Given the description of an element on the screen output the (x, y) to click on. 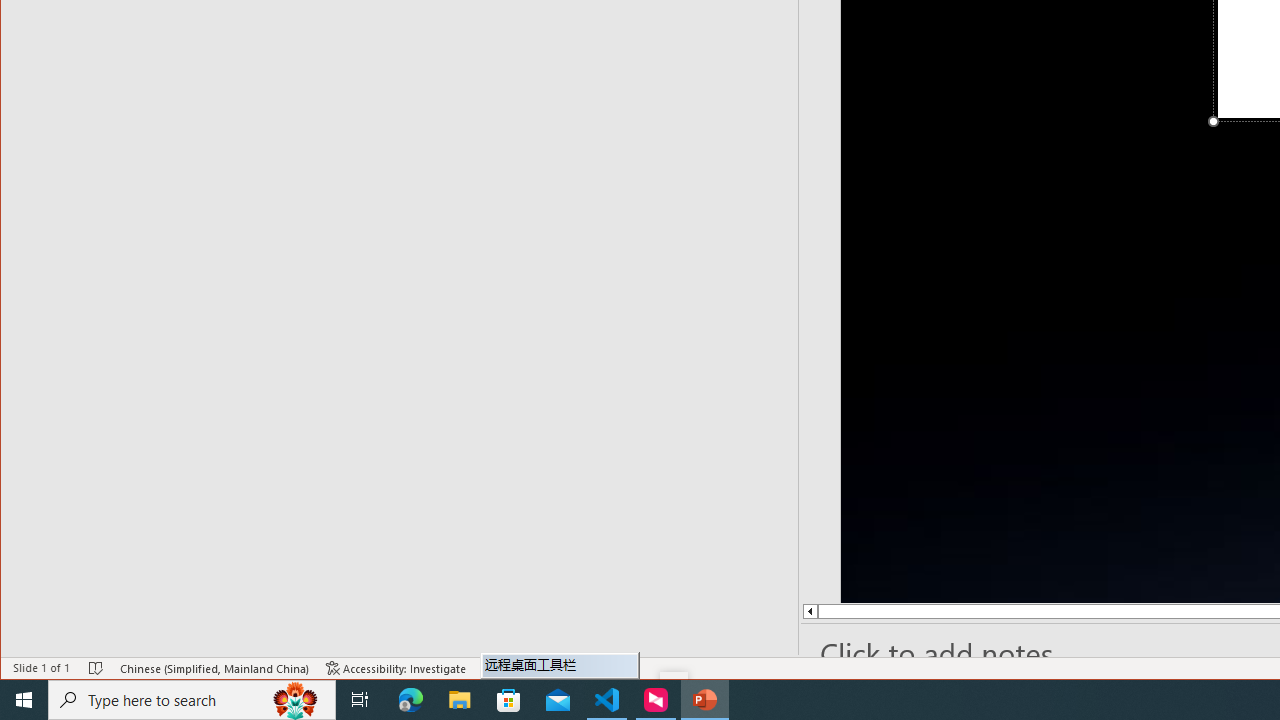
Microsoft Edge (411, 699)
